Given the description of an element on the screen output the (x, y) to click on. 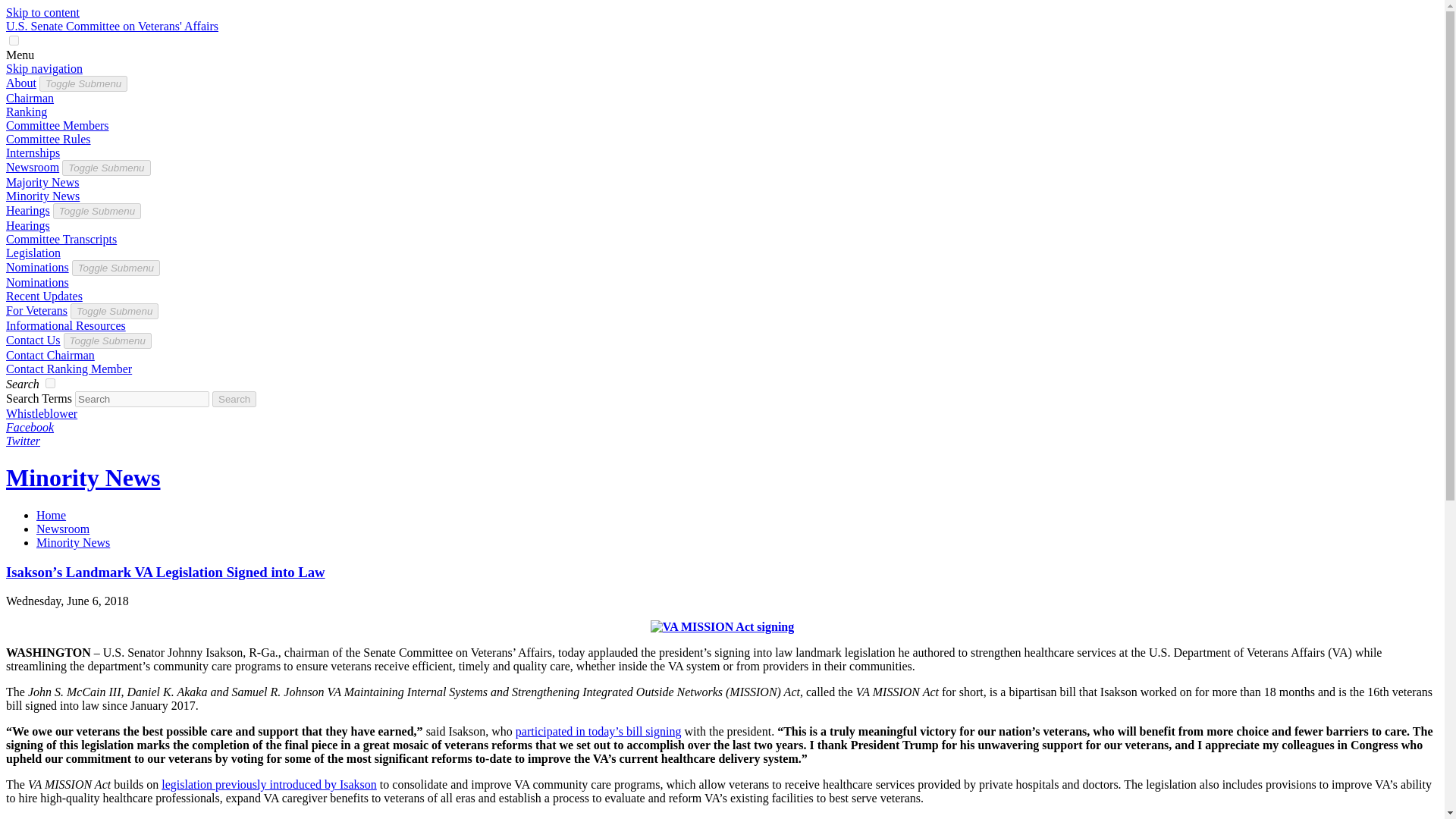
Majority News (41, 182)
Toggle Submenu (113, 311)
Facebook (29, 427)
Toggle Submenu (96, 211)
Contact Ranking Member (68, 368)
For Veterans (35, 309)
Hearings (27, 210)
Search (22, 383)
Minority News (82, 477)
Committee Members (57, 124)
Toggle Submenu (116, 267)
VA MISSION Act signing (722, 626)
Twitter (22, 440)
Contact Us (33, 339)
Toggle Submenu (107, 340)
